Given the description of an element on the screen output the (x, y) to click on. 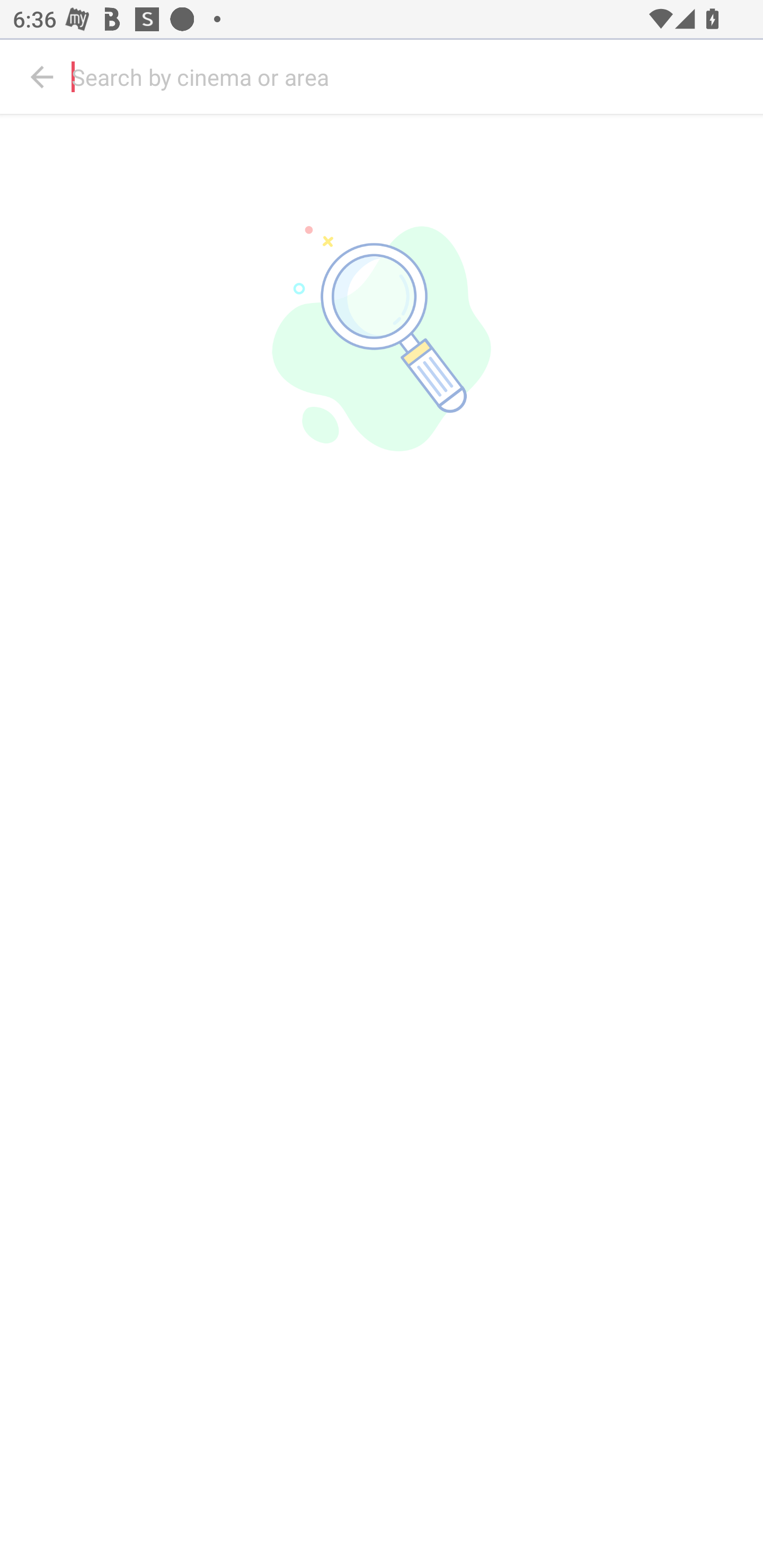
Back (42, 76)
Search by cinema or area (413, 76)
